Given the description of an element on the screen output the (x, y) to click on. 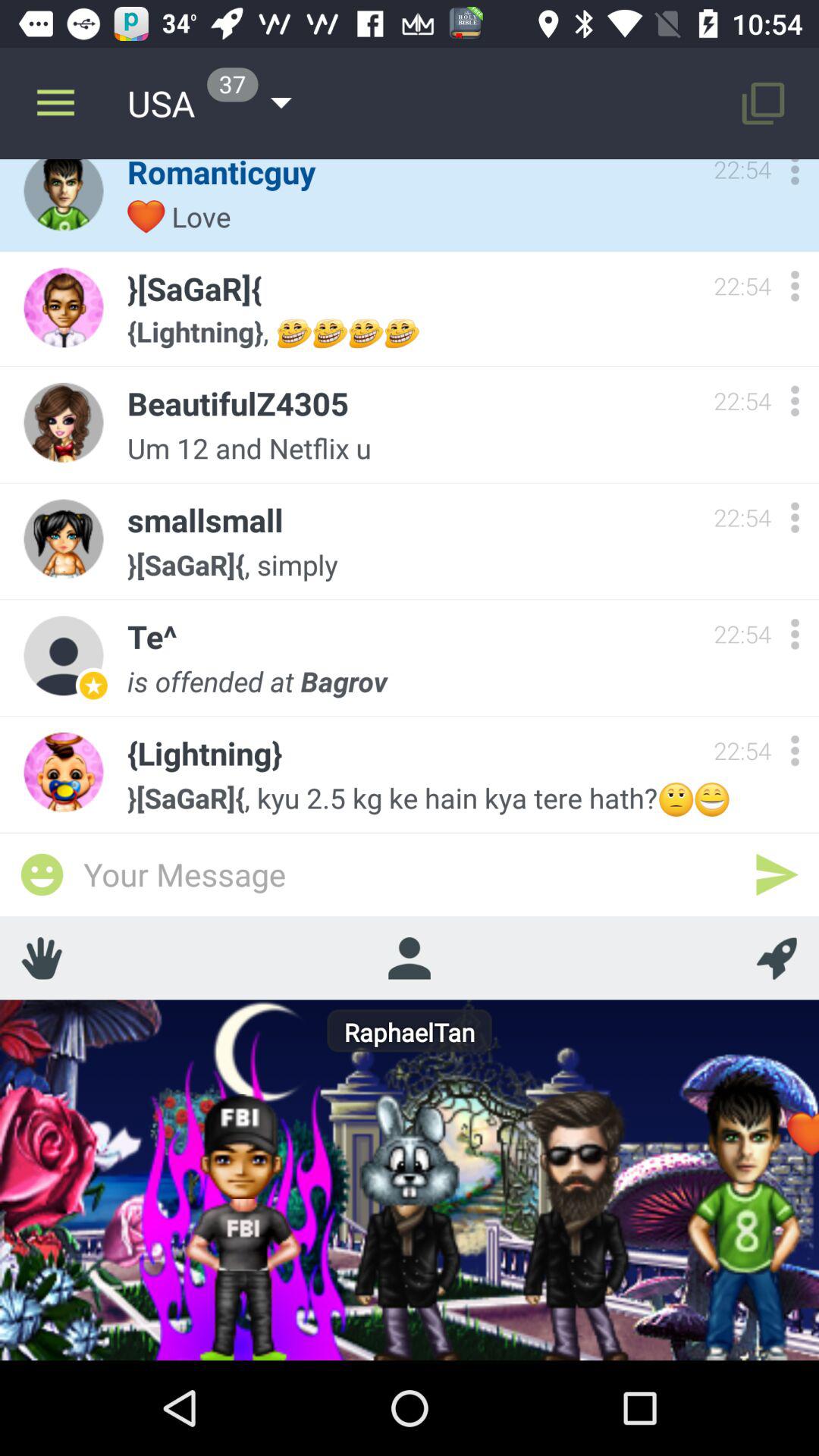
emoji icon (41, 874)
